Given the description of an element on the screen output the (x, y) to click on. 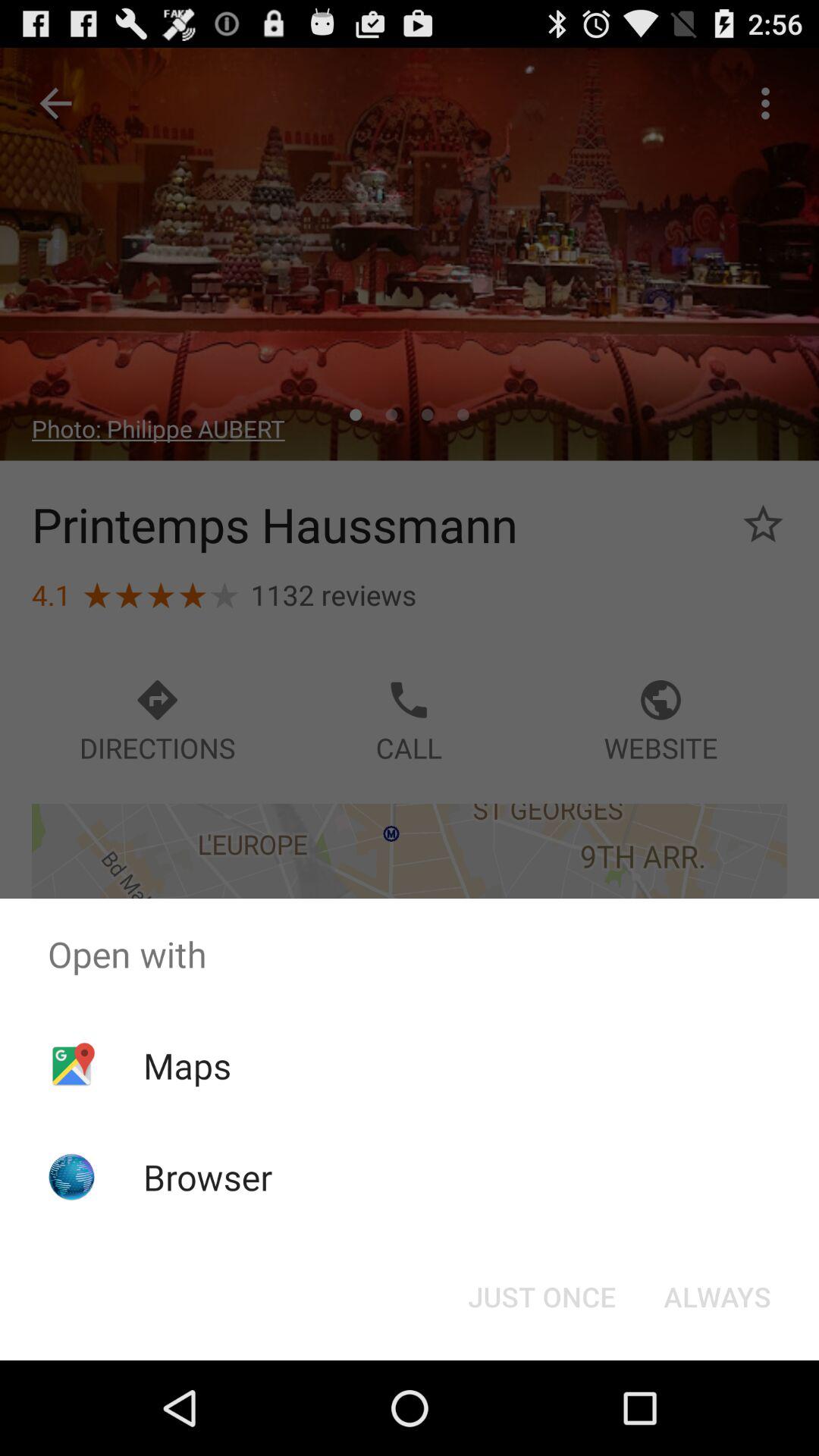
turn off just once button (541, 1296)
